Given the description of an element on the screen output the (x, y) to click on. 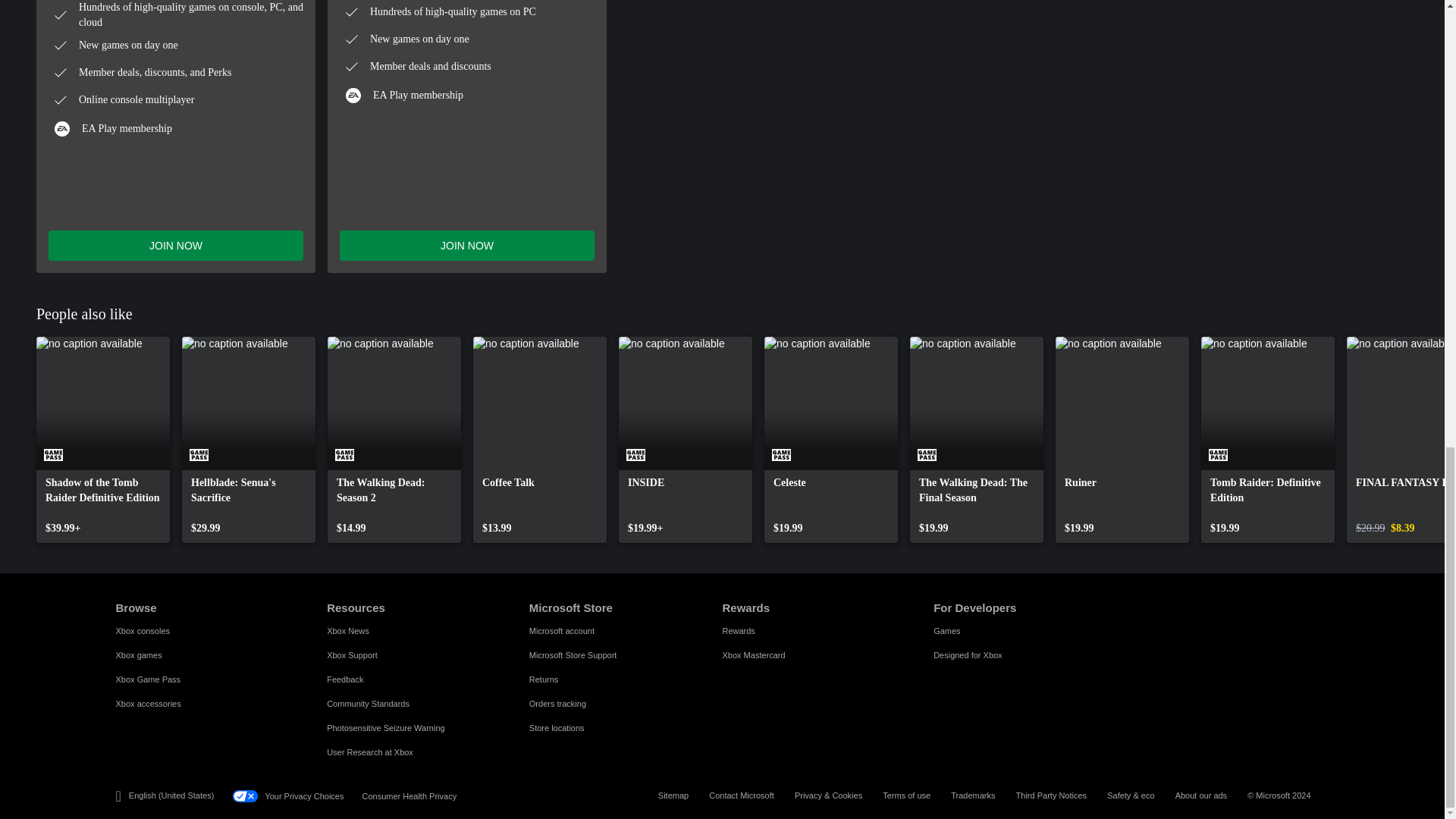
Ruiner (1122, 439)
Hellblade: Senua's Sacrifice (248, 439)
INSIDE (685, 439)
The Walking Dead: The Final Season (976, 439)
Celeste (831, 439)
Coffee Talk (540, 439)
Tomb Raider: Definitive Edition (1268, 439)
Shadow of the Tomb Raider Definitive Edition (103, 439)
The Walking Dead: Season 2 (394, 439)
